Given the description of an element on the screen output the (x, y) to click on. 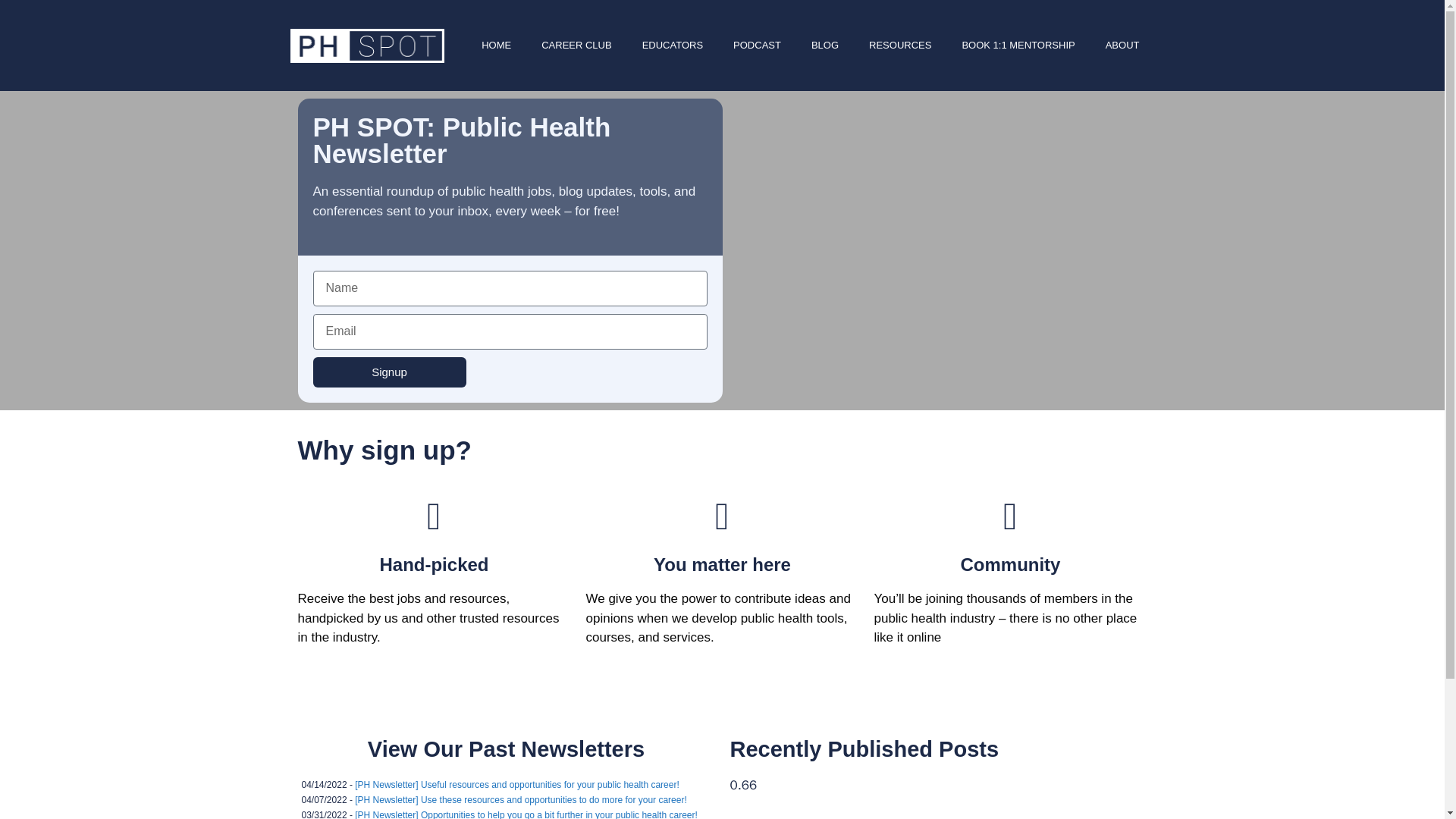
CAREER CLUB (575, 45)
HOME (495, 45)
BOOK 1:1 MENTORSHIP (1017, 45)
PODCAST (756, 45)
RESOURCES (899, 45)
ABOUT (1122, 45)
EDUCATORS (672, 45)
BLOG (824, 45)
